Given the description of an element on the screen output the (x, y) to click on. 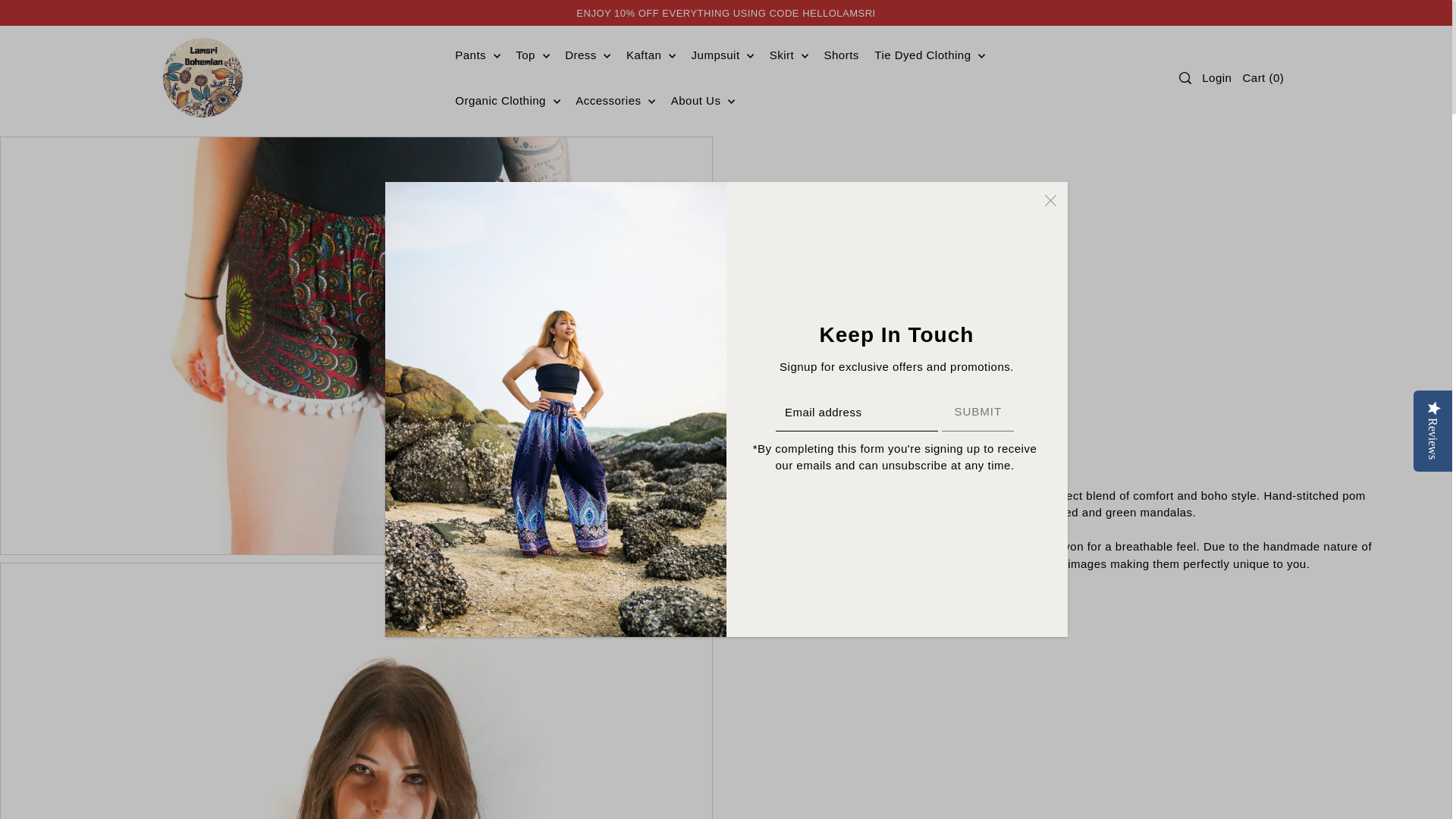
1 (848, 297)
Add to Cart (861, 343)
Pants (477, 53)
0 Reviews (807, 265)
